Given the description of an element on the screen output the (x, y) to click on. 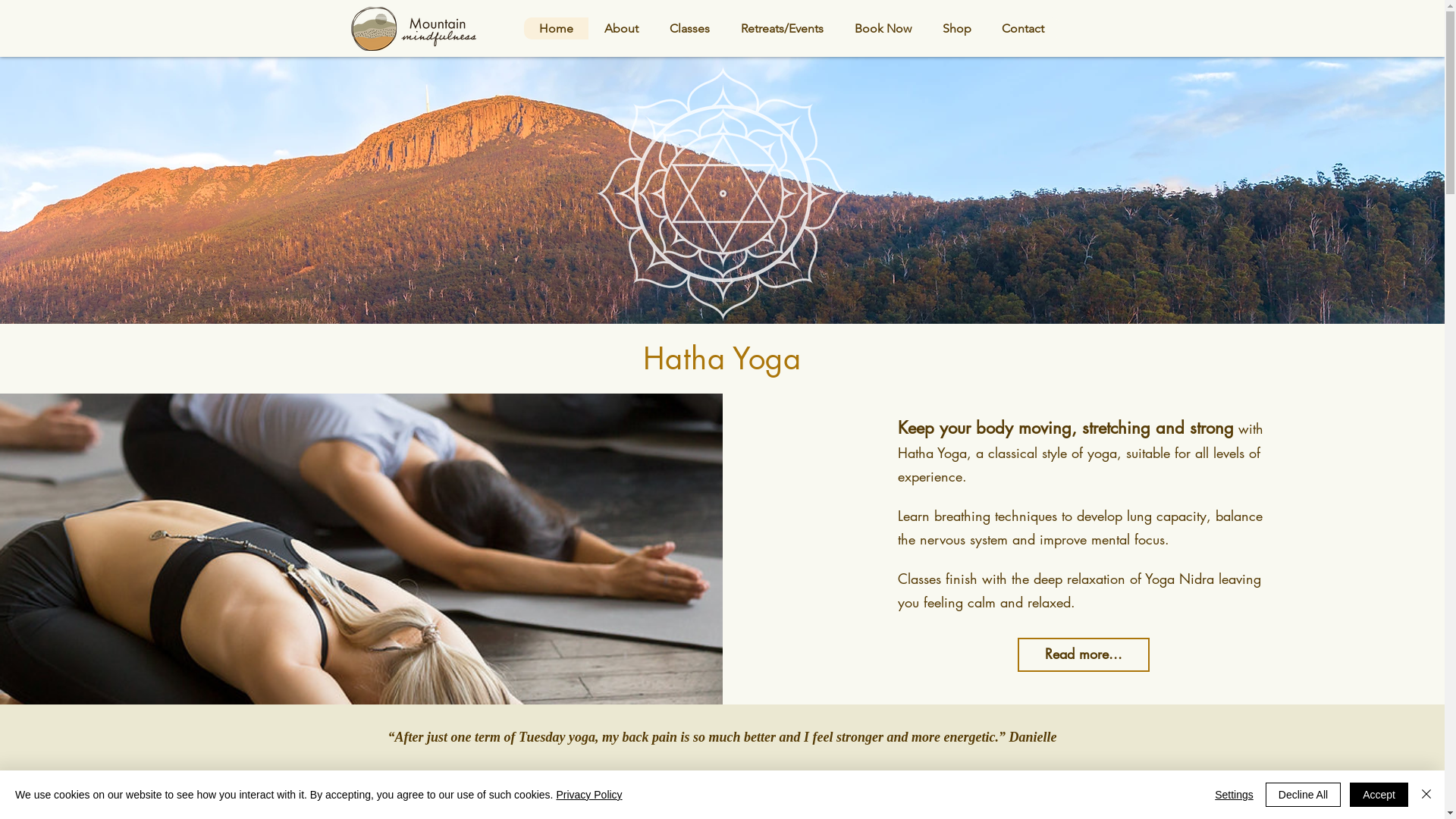
Privacy Policy Element type: text (588, 794)
About Element type: text (620, 28)
Shop Element type: text (956, 28)
Home Element type: text (555, 28)
Contact Element type: text (1021, 28)
Read more... Element type: text (1083, 654)
Retreats/Events Element type: text (781, 28)
Decline All Element type: text (1302, 794)
Accept Element type: text (1378, 794)
